Given the description of an element on the screen output the (x, y) to click on. 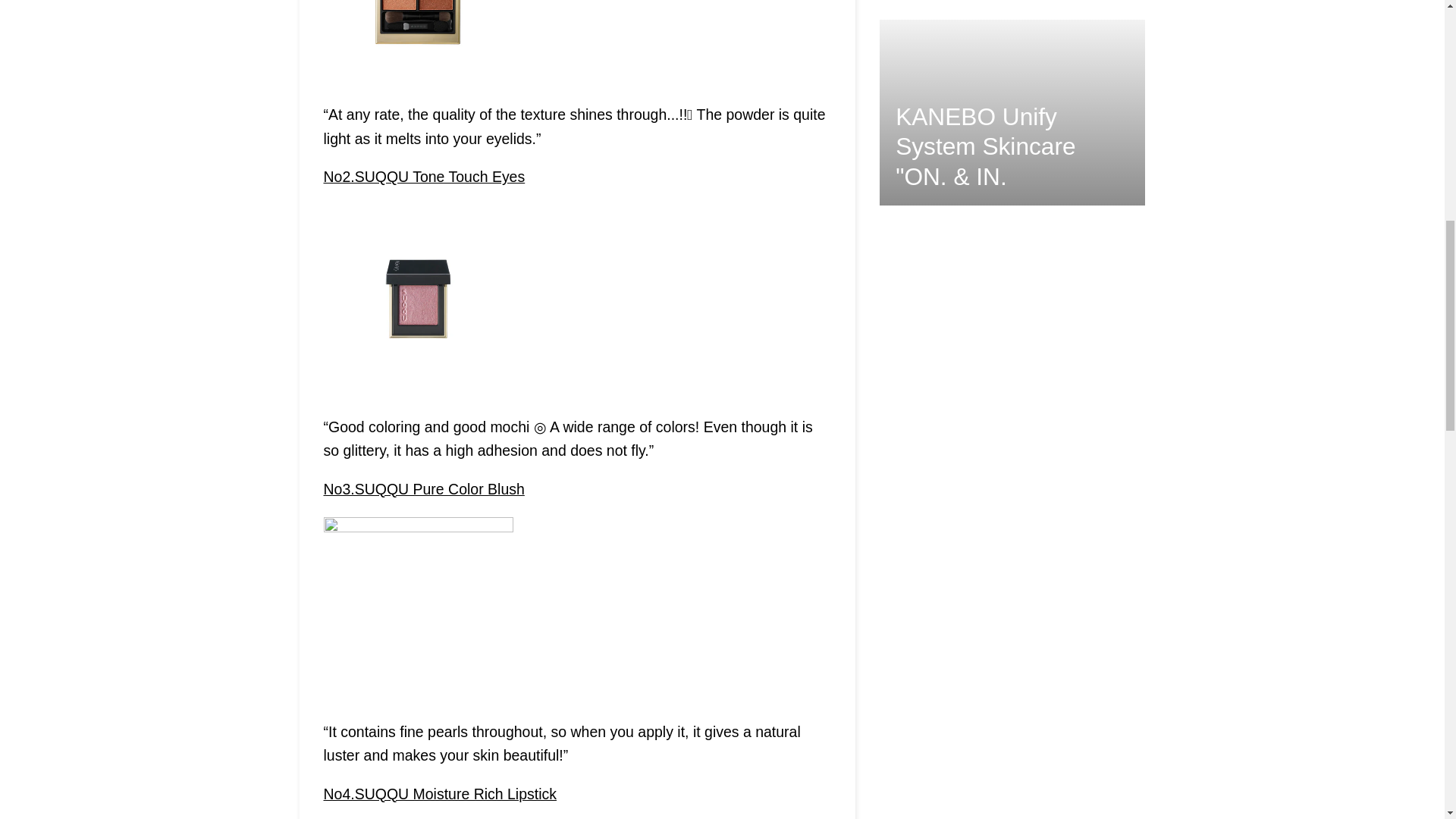
SUQQU PURE COLOR BLUSH (423, 488)
SUQQU MOISTURE RICH LIPSTICK (439, 793)
SUQQU TONE TOUCH EYES (423, 176)
